Given the description of an element on the screen output the (x, y) to click on. 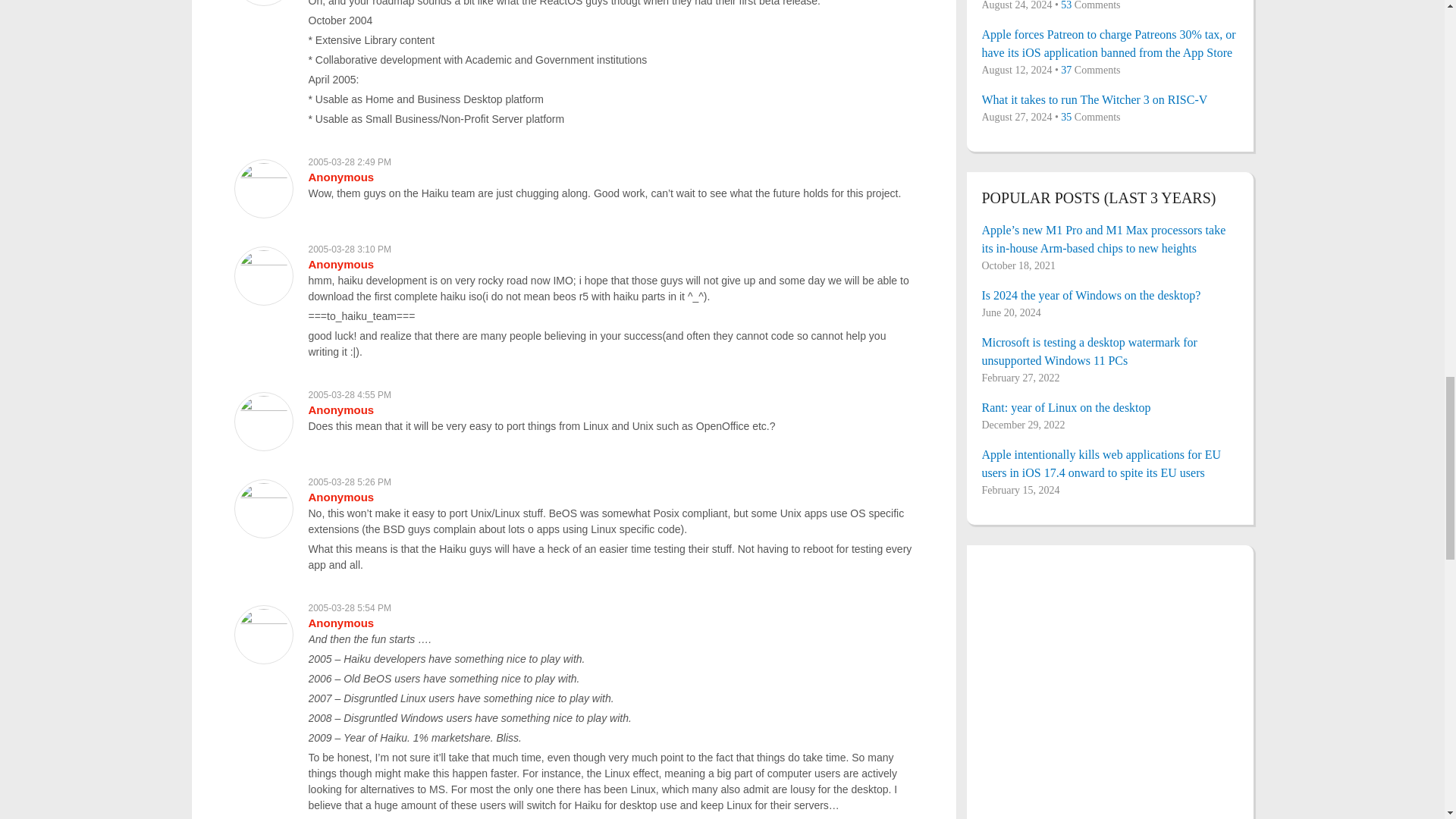
Anonymous (340, 496)
Anonymous (340, 264)
Anonymous (340, 176)
Anonymous (340, 409)
Anonymous (340, 622)
